Given the description of an element on the screen output the (x, y) to click on. 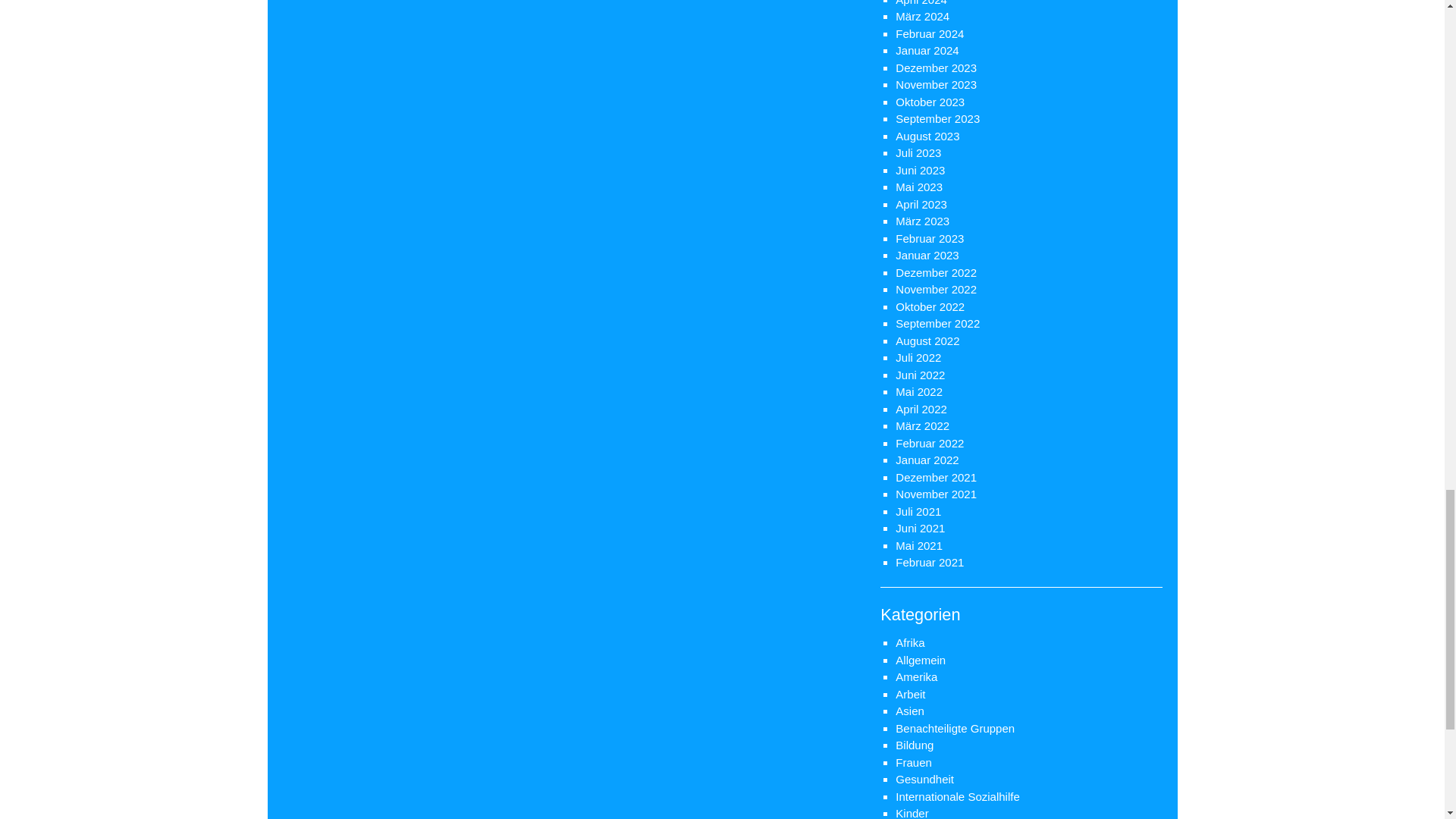
Dezember 2022 (935, 272)
Oktober 2023 (929, 101)
Januar 2024 (926, 50)
Januar 2023 (926, 254)
Mai 2023 (918, 186)
Juli 2023 (917, 152)
Juni 2023 (919, 169)
Dezember 2023 (935, 67)
April 2024 (921, 2)
September 2023 (937, 118)
Februar 2024 (929, 33)
November 2023 (935, 83)
April 2023 (921, 204)
Februar 2023 (929, 237)
August 2023 (927, 135)
